Given the description of an element on the screen output the (x, y) to click on. 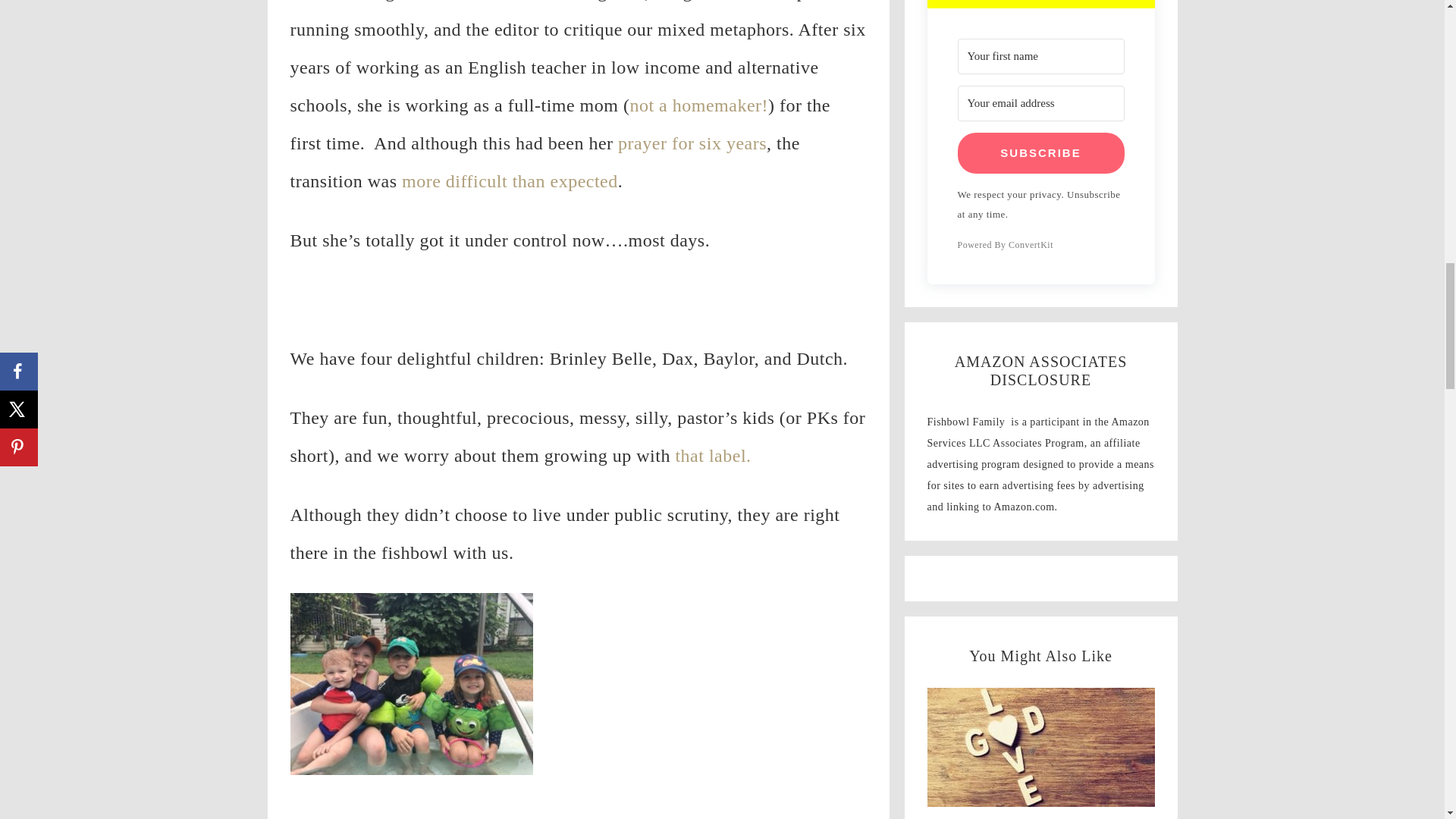
more difficult than expected (509, 180)
prayer for six years (692, 143)
that label. (713, 455)
not a homemaker! (698, 105)
5 Resources to Grow Your Child's Relationship With God (1040, 750)
Powered By ConvertKit (1040, 244)
SUBSCRIBE (1040, 152)
